Given the description of an element on the screen output the (x, y) to click on. 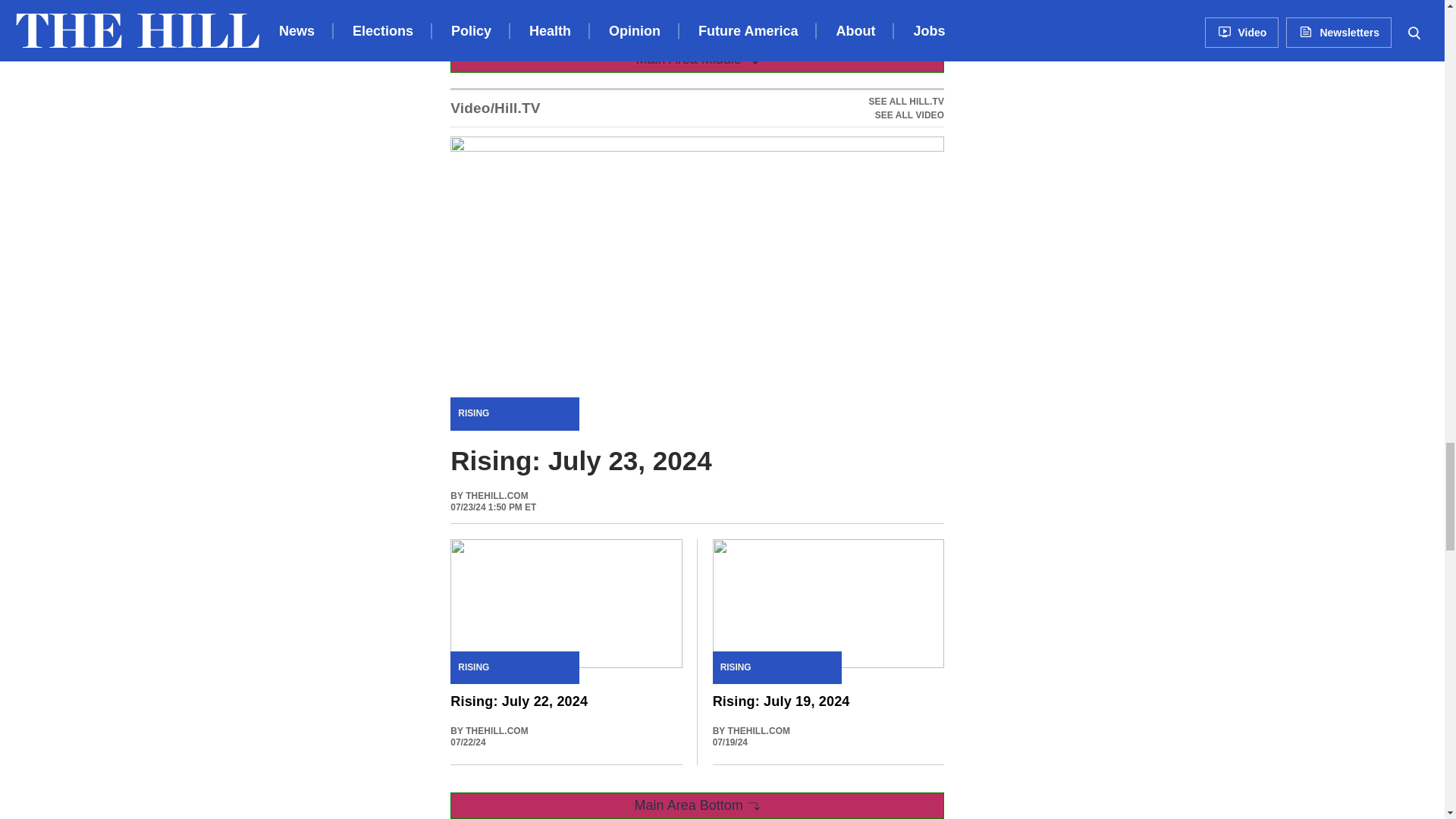
SEE ALL HILL.TV (906, 108)
SEE ALL VIDEO (906, 101)
